Given the description of an element on the screen output the (x, y) to click on. 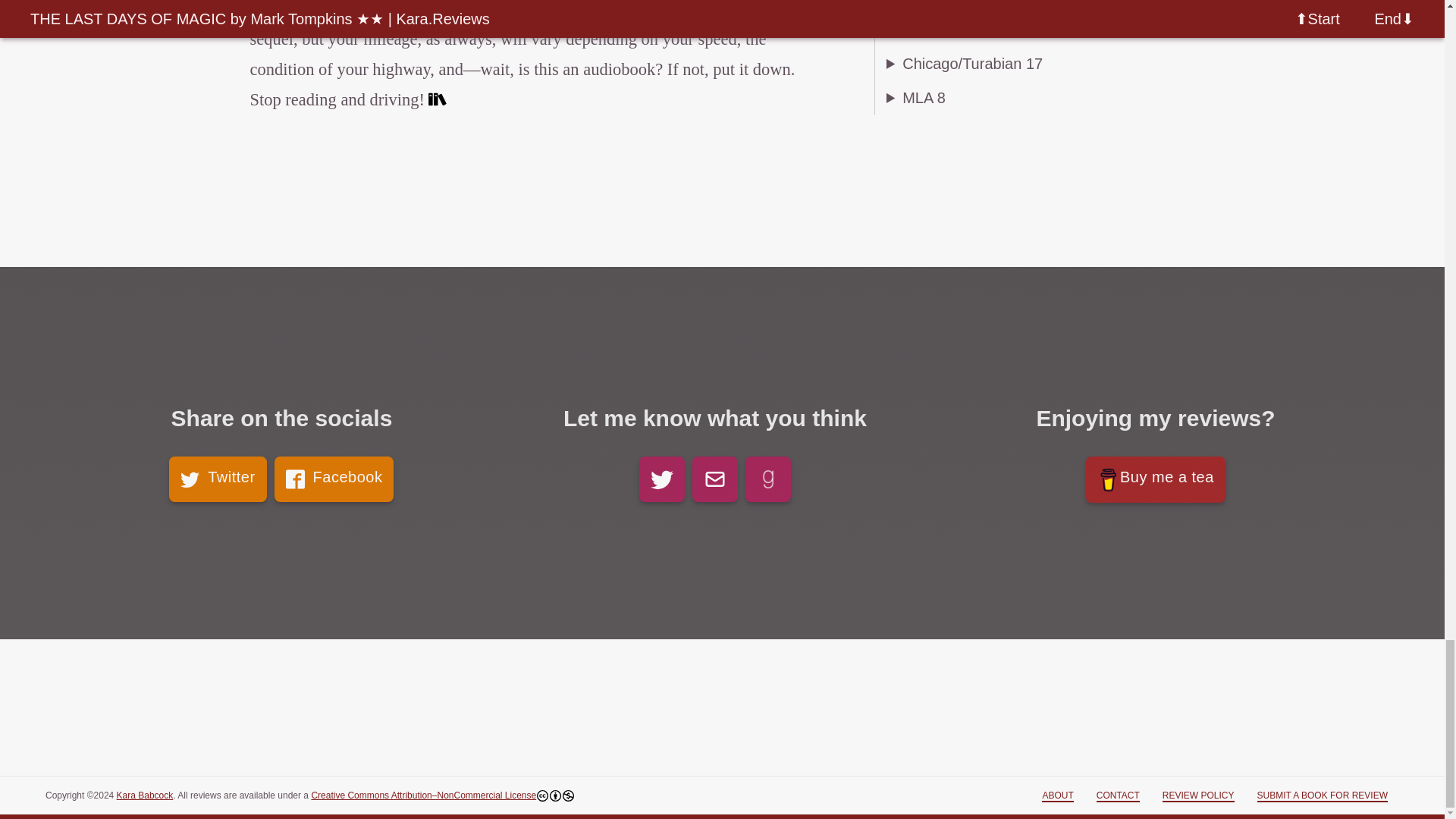
SUBMIT A BOOK FOR REVIEW (1322, 796)
Talk to me on Twitter (661, 479)
REVIEW POLICY (1197, 796)
Email me (715, 479)
CONTACT (1118, 796)
Facebook (334, 479)
Buy me a tea (1155, 479)
Twitter (217, 479)
Kara Babcock (144, 795)
ABOUT (1057, 796)
